Given the description of an element on the screen output the (x, y) to click on. 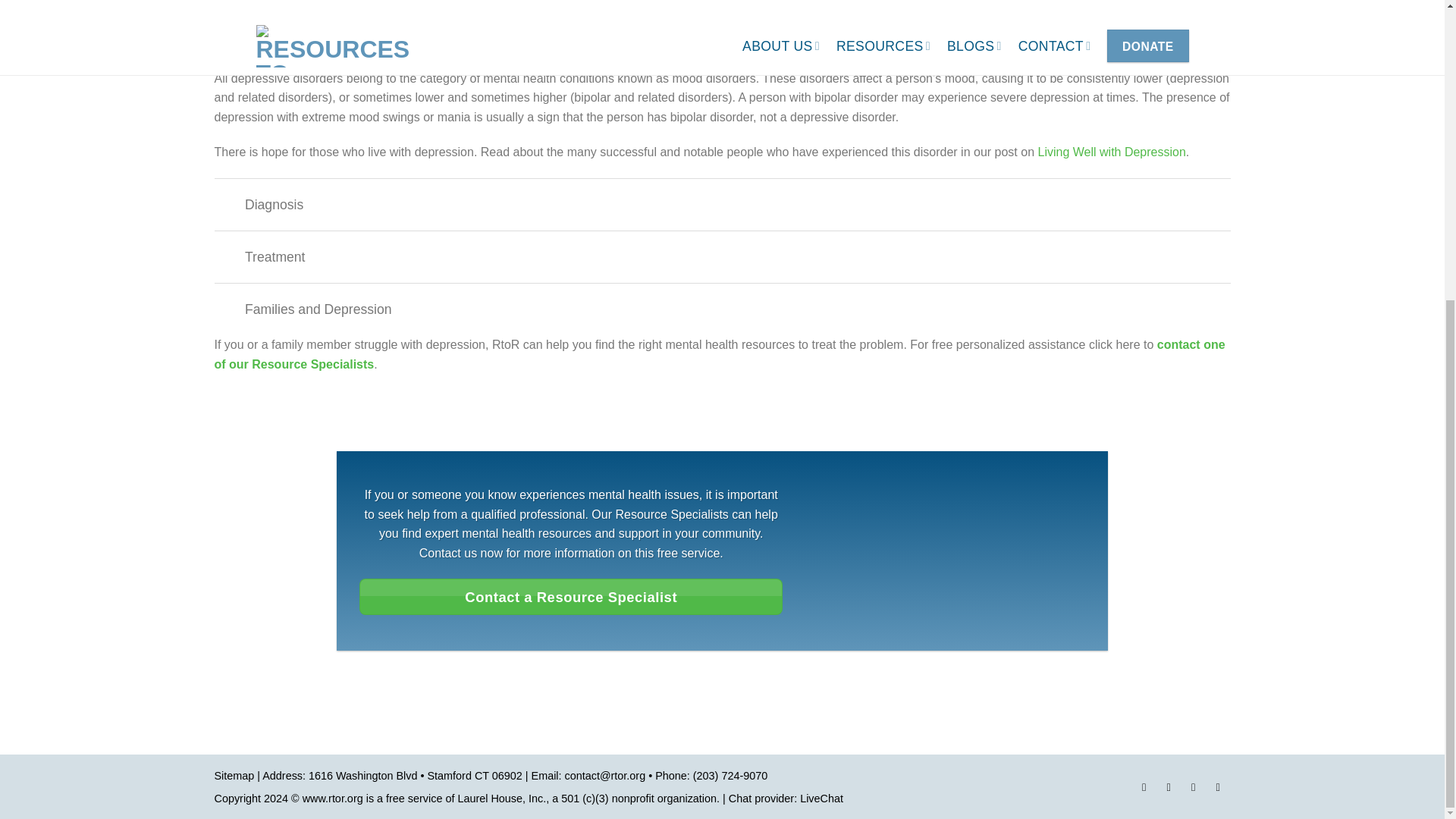
Follow on Instagram (1168, 789)
Follow on Twitter (1193, 789)
Living Well with Depression (1110, 151)
Follow on Facebook (1144, 789)
Diagnosis (722, 204)
Subscribe to RSS (1217, 789)
Families and Depression (722, 308)
Treatment (722, 256)
